Given the description of an element on the screen output the (x, y) to click on. 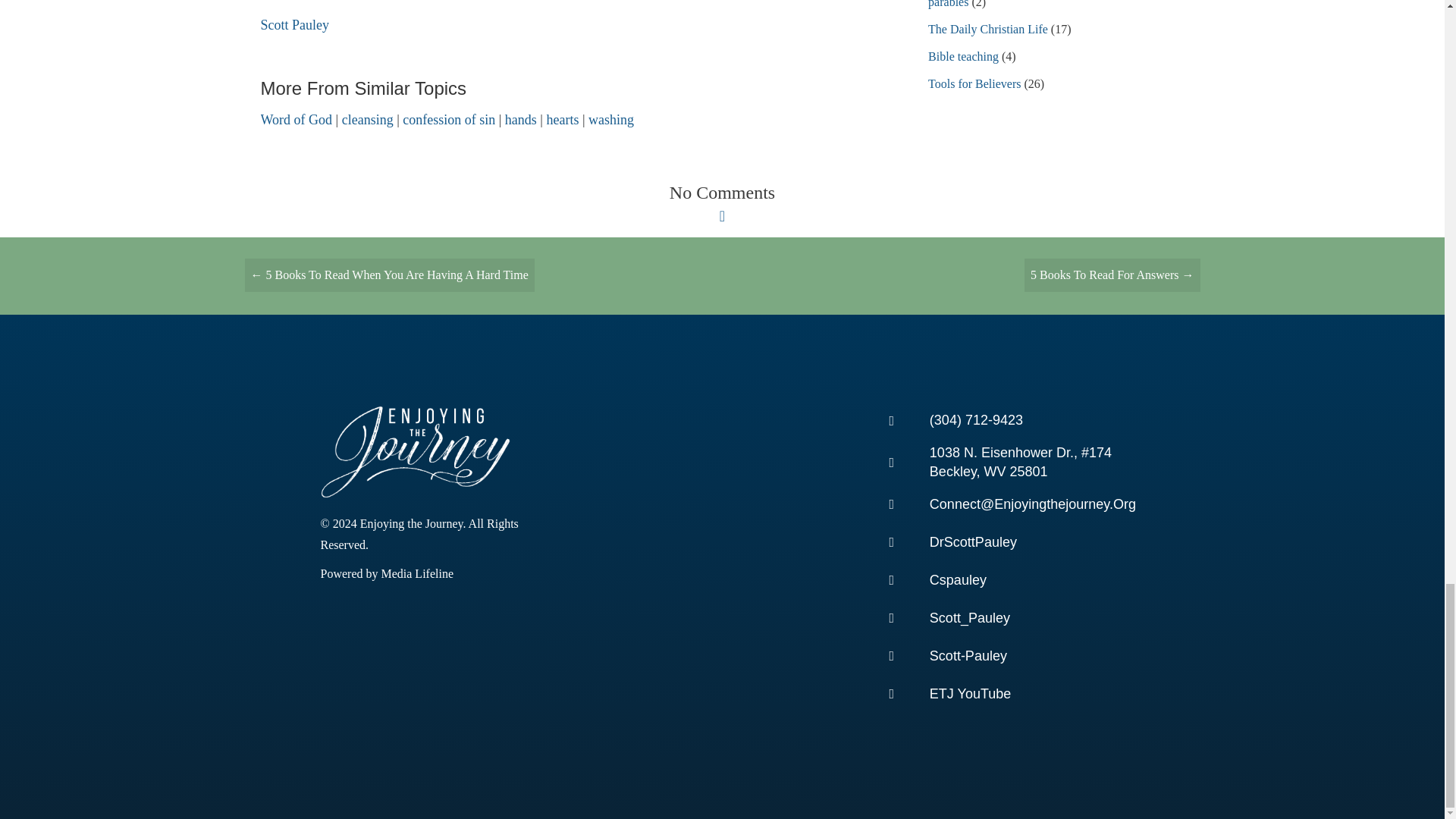
Scott Pauley (295, 24)
confession of sin (449, 119)
Word of God (296, 119)
washing (610, 119)
hearts (562, 119)
hands (521, 119)
cleansing (367, 119)
